Given the description of an element on the screen output the (x, y) to click on. 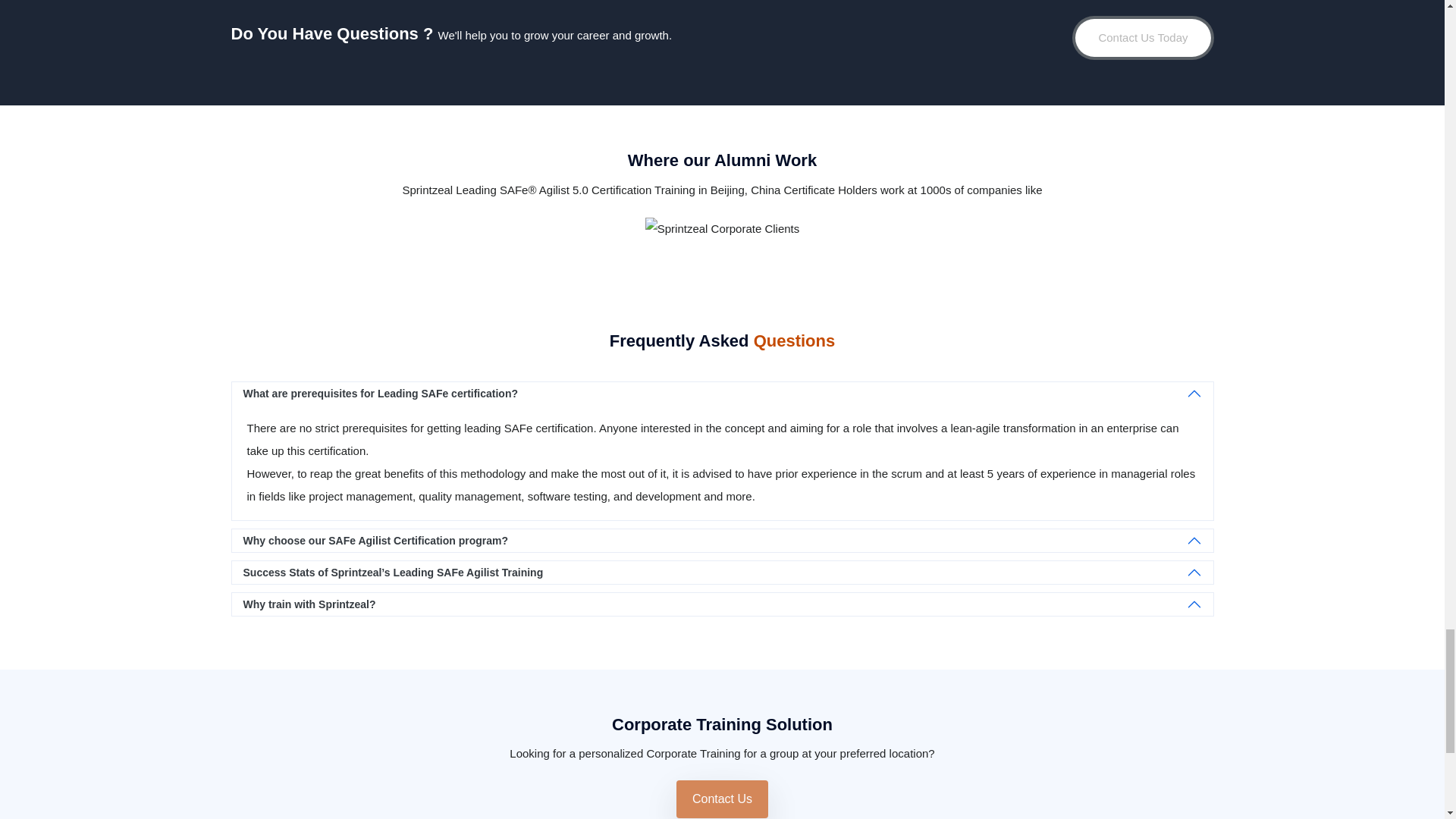
Sprintzeal Corporate Clients (722, 228)
